Given the description of an element on the screen output the (x, y) to click on. 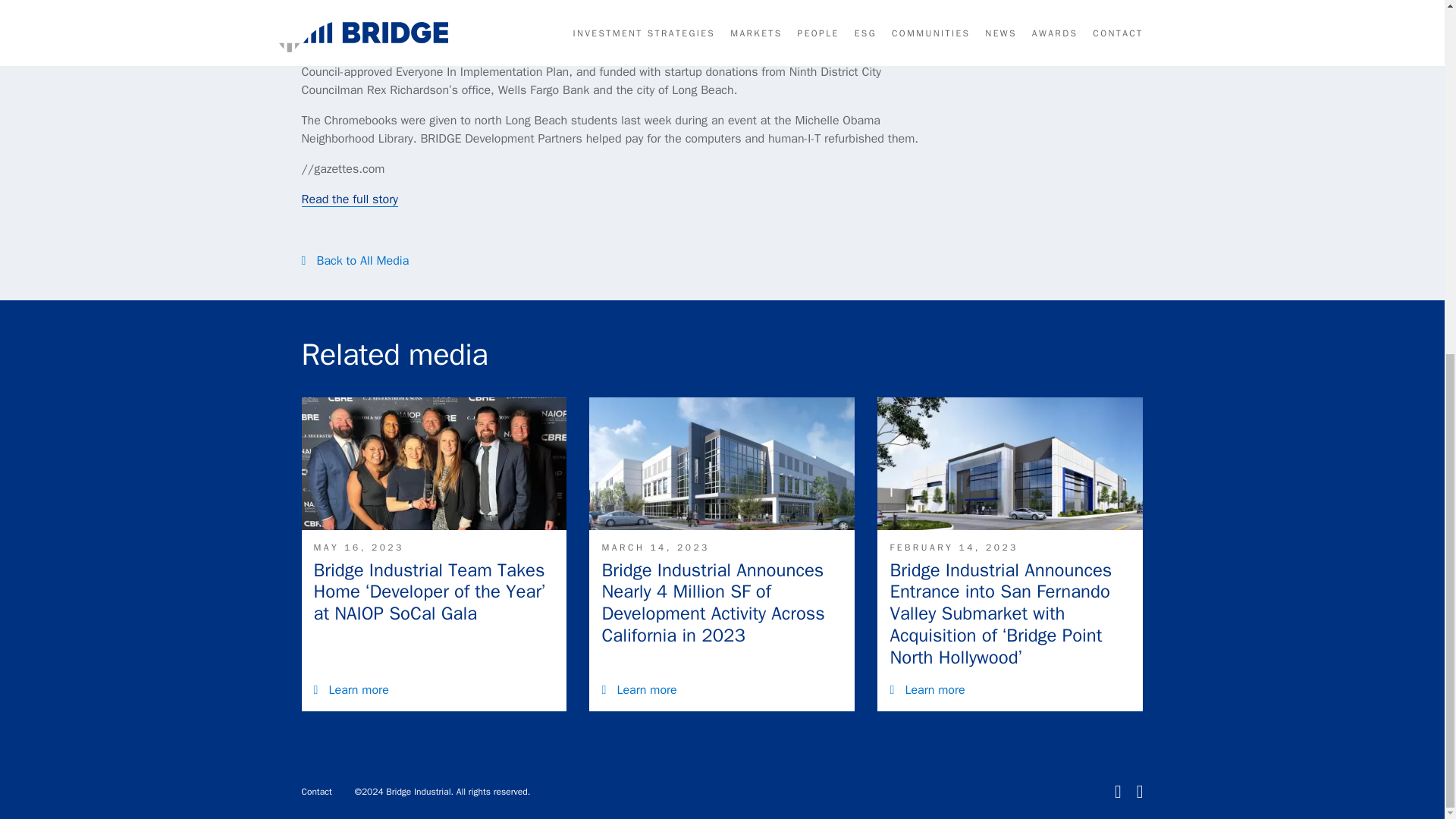
Back to All Media (363, 260)
Read the full story (349, 199)
Contact (316, 791)
